Given the description of an element on the screen output the (x, y) to click on. 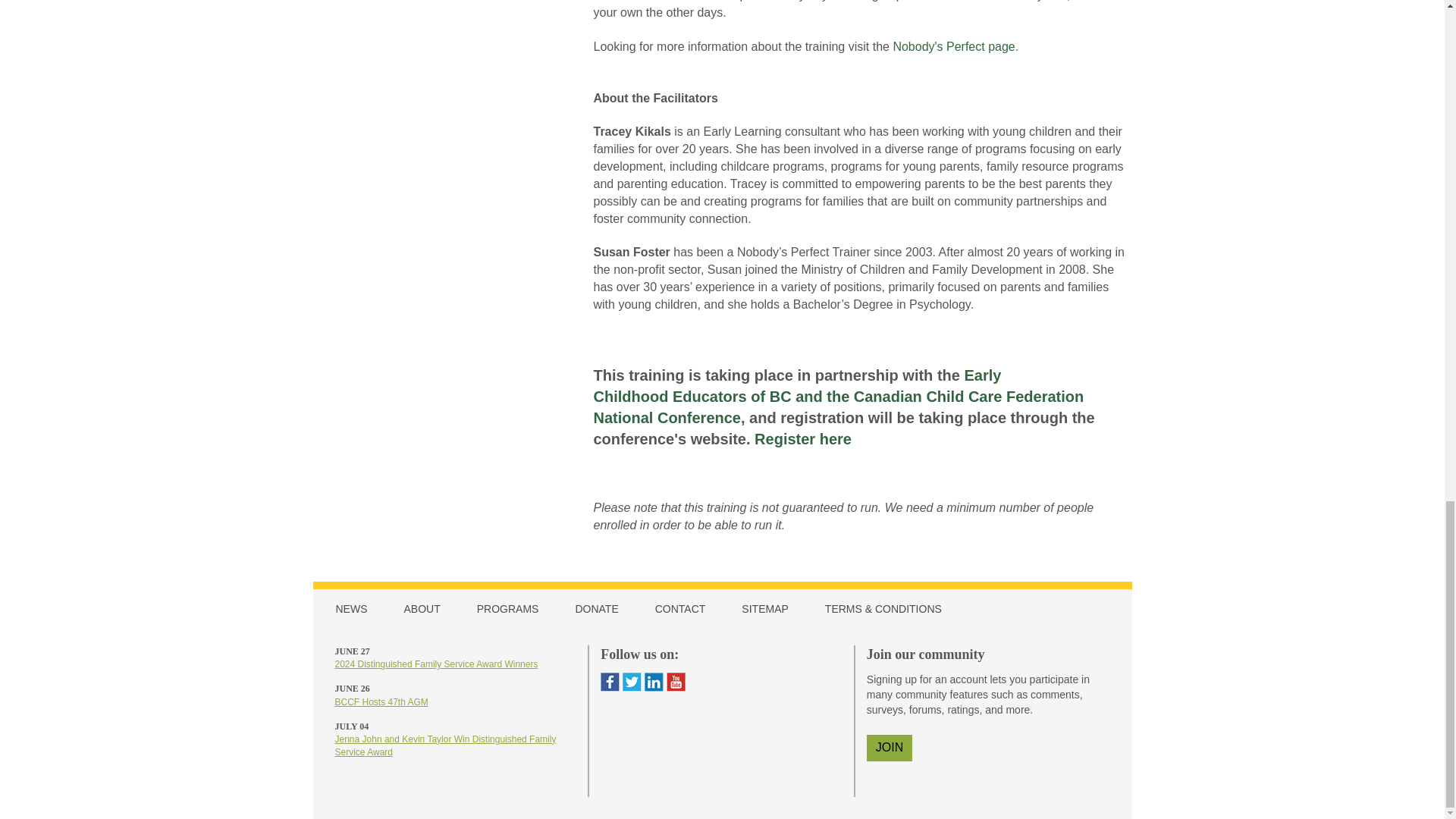
PROGRAMS (515, 608)
ABOUT (428, 608)
Nobody's Perfect page (953, 46)
DONATE (603, 608)
Register here (802, 438)
NEWS (357, 608)
